Given the description of an element on the screen output the (x, y) to click on. 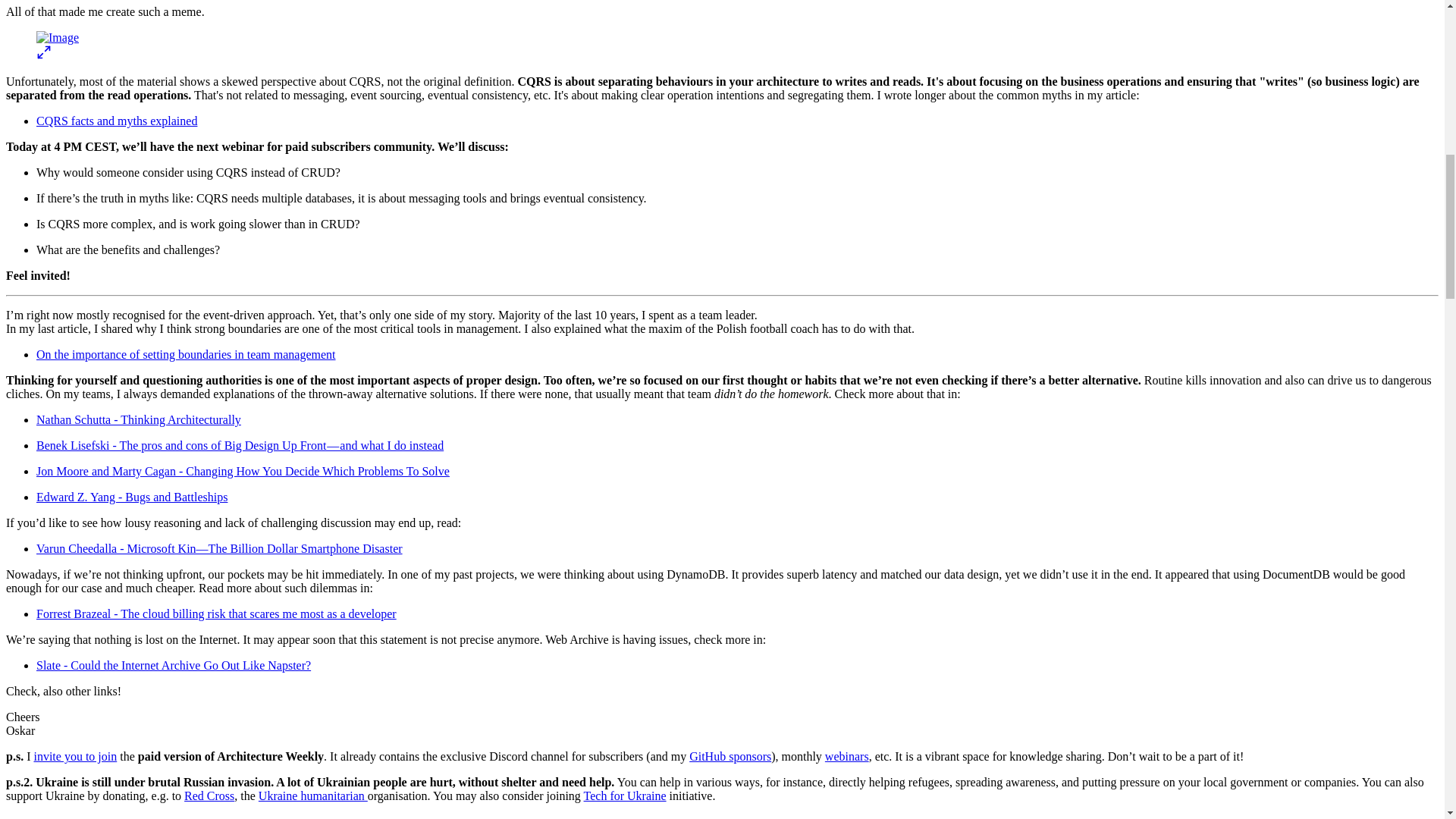
GitHub sponsors (729, 756)
webinars (847, 756)
CQRS facts and myths explained (116, 120)
Tech for Ukraine (624, 795)
On the importance of setting boundaries in team management (186, 354)
invite you to join (74, 756)
Image (57, 38)
Edward Z. Yang - Bugs and Battleships (131, 496)
Slate - Could the Internet Archive Go Out Like Napster? (173, 665)
Nathan Schutta - Thinking Architecturally (138, 419)
Red Cross (209, 795)
Ukraine humanitarian (313, 795)
